Given the description of an element on the screen output the (x, y) to click on. 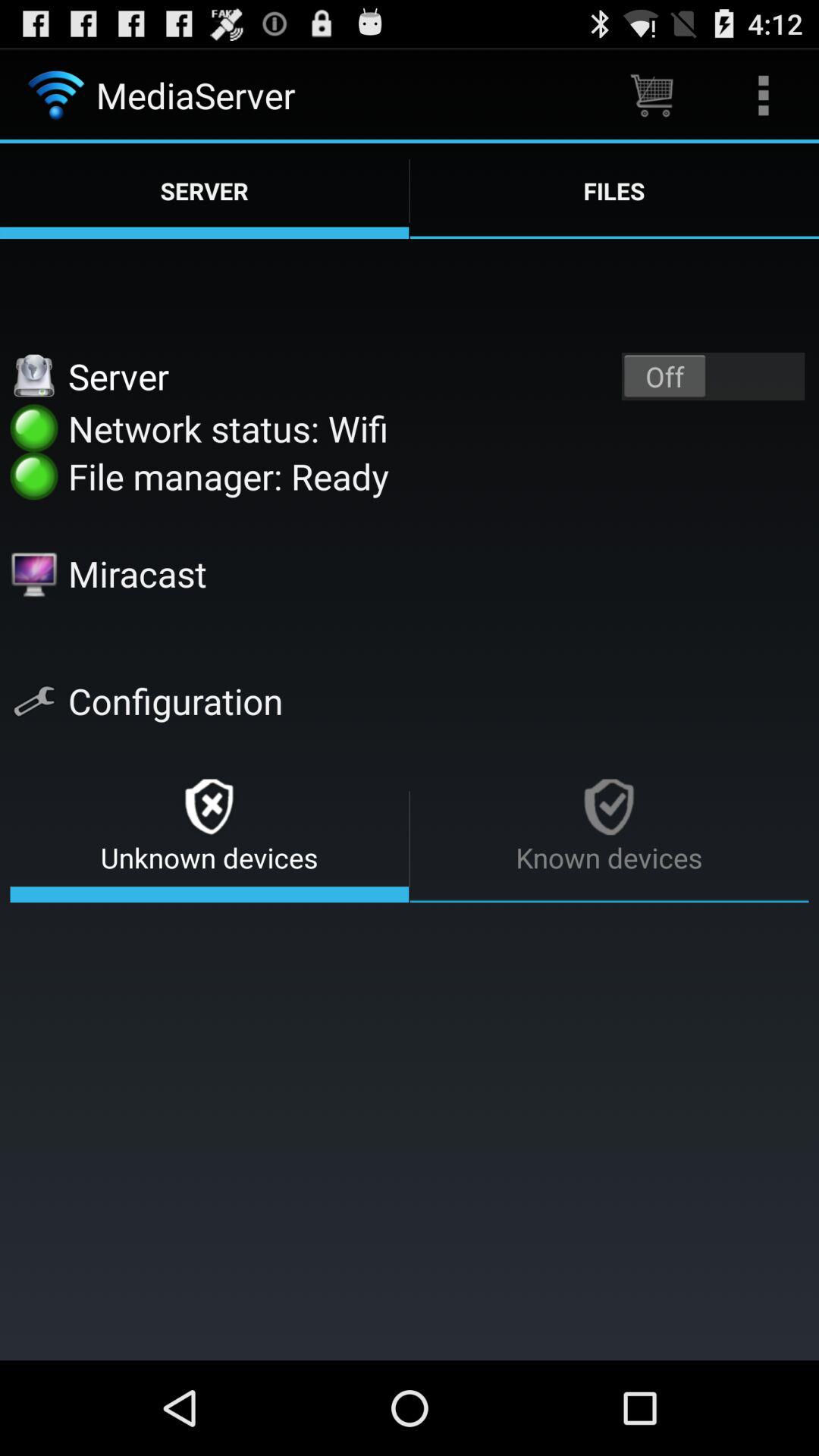
click the icon of network status (34, 427)
